Given the description of an element on the screen output the (x, y) to click on. 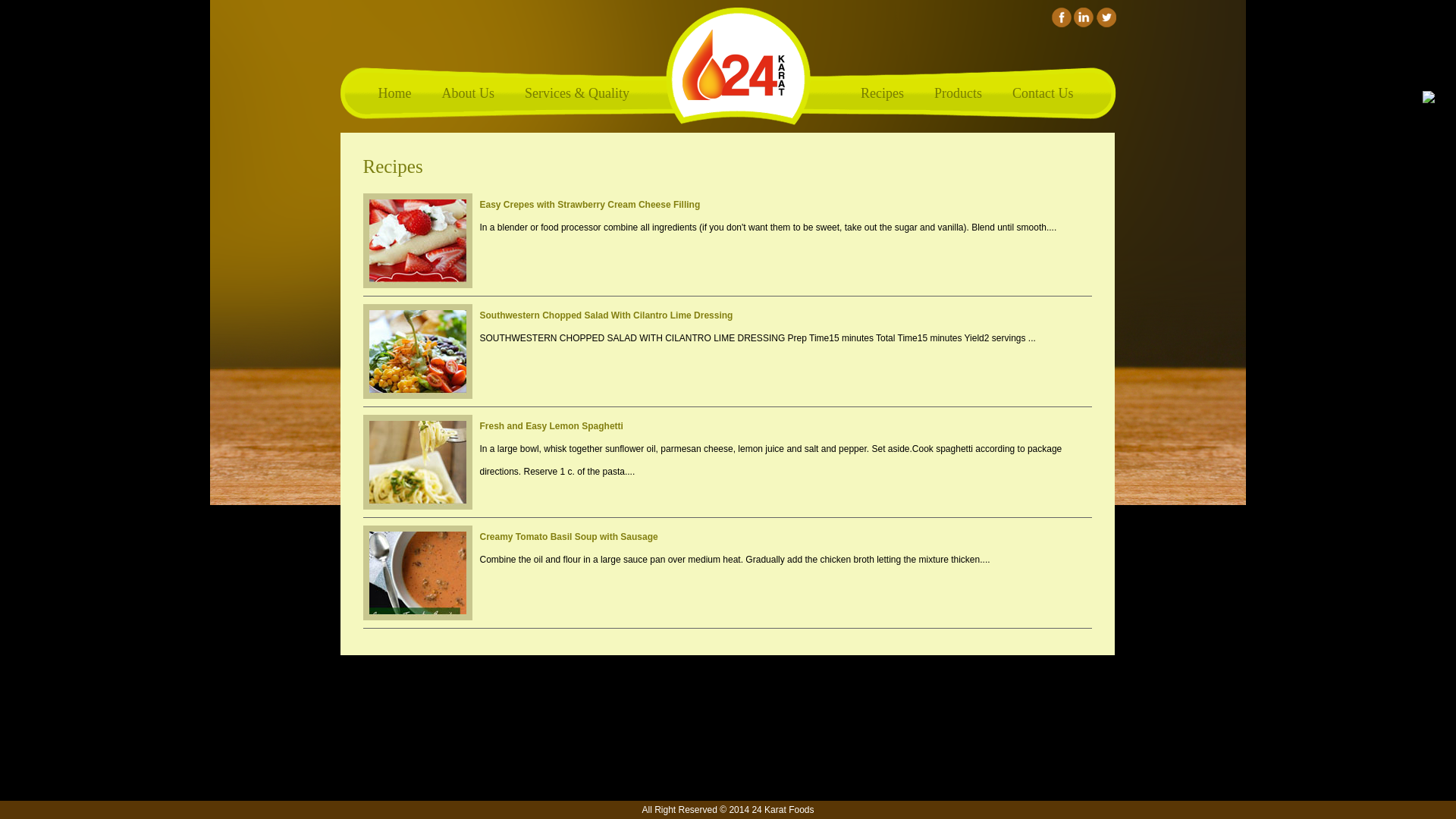
Recipes Element type: text (882, 93)
Home Element type: text (394, 93)
Services & Quality Element type: text (576, 93)
Products Element type: text (958, 93)
About Us Element type: text (467, 93)
Contact Us Element type: text (1042, 93)
